Given the description of an element on the screen output the (x, y) to click on. 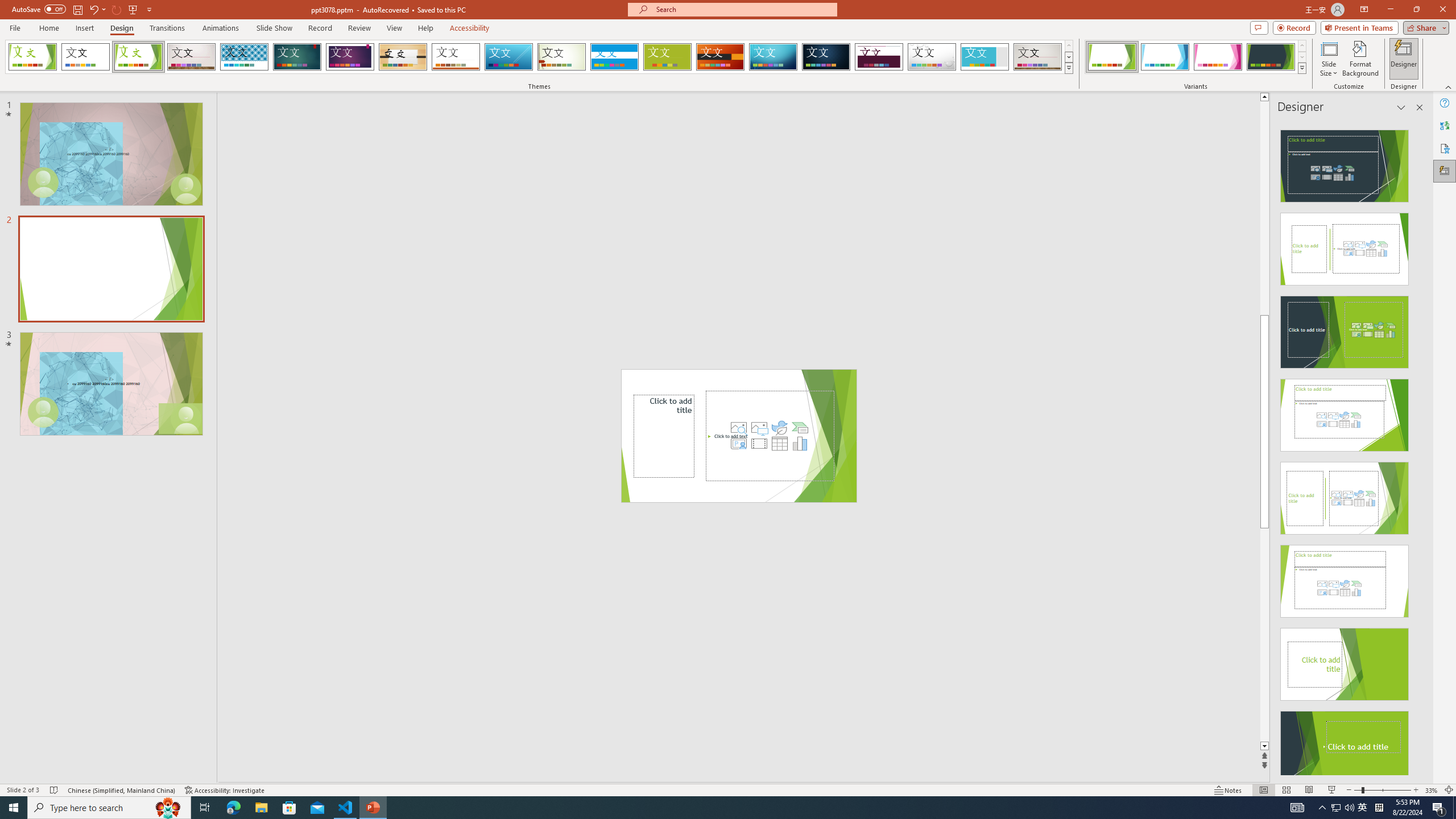
Ion (296, 56)
Organic (403, 56)
Basis (667, 56)
Recommended Design: Design Idea (1344, 162)
Page down (1264, 634)
Retrospect (455, 56)
